Given the description of an element on the screen output the (x, y) to click on. 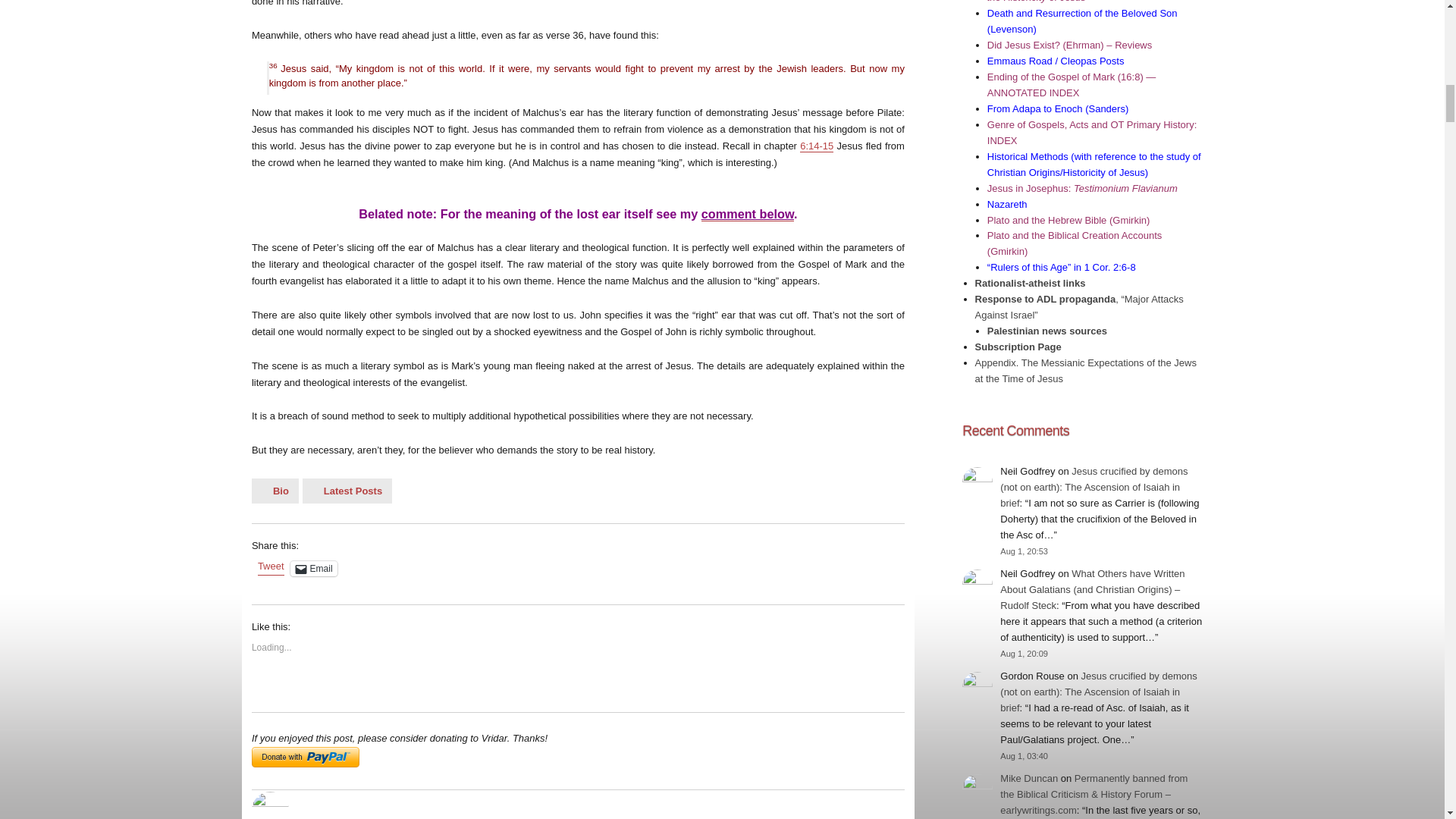
Click to email a link to a friend (313, 568)
comment below (747, 213)
6:14-15 (815, 145)
Bio (274, 490)
Email (313, 568)
Tweet (270, 567)
Latest Posts (346, 490)
